Given the description of an element on the screen output the (x, y) to click on. 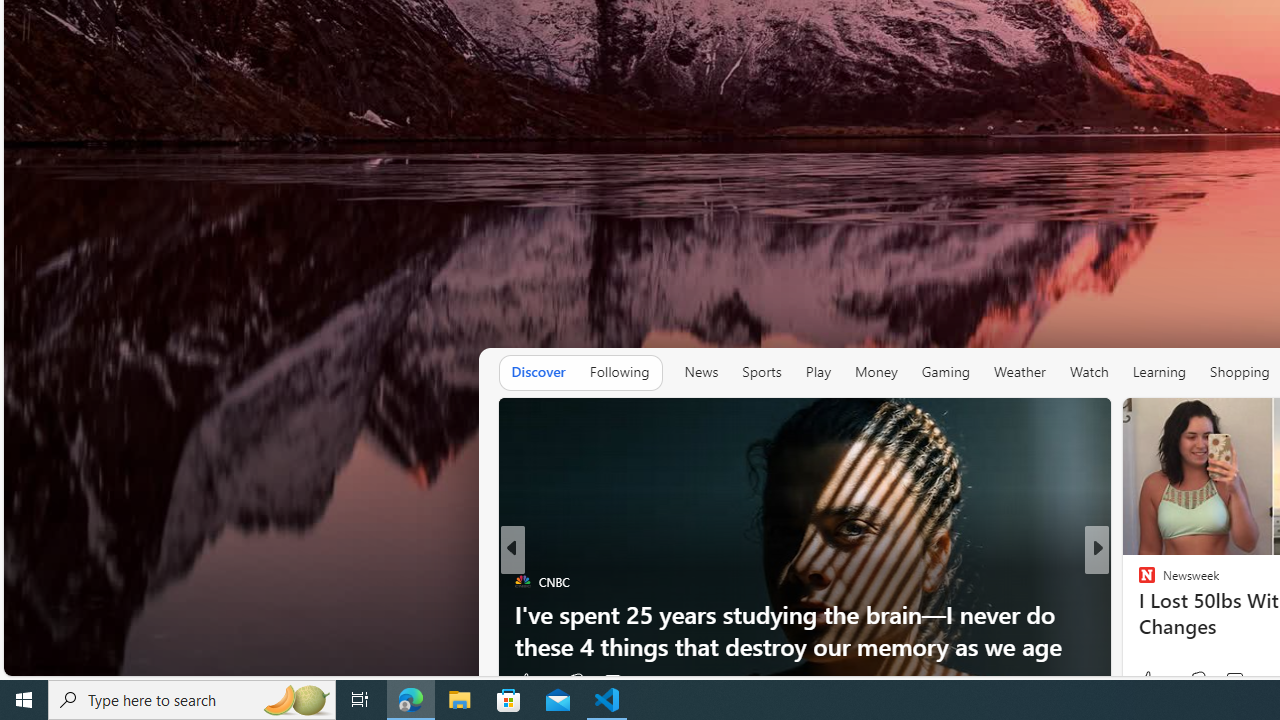
View comments 3 Comment (1229, 681)
View comments 100 Comment (1234, 681)
View comments 17 Comment (1237, 681)
View comments 17 Comment (1229, 681)
59 Like (1149, 681)
View comments 38 Comment (1234, 681)
358 Like (1151, 681)
View comments 5 Comment (1229, 681)
